Given the description of an element on the screen output the (x, y) to click on. 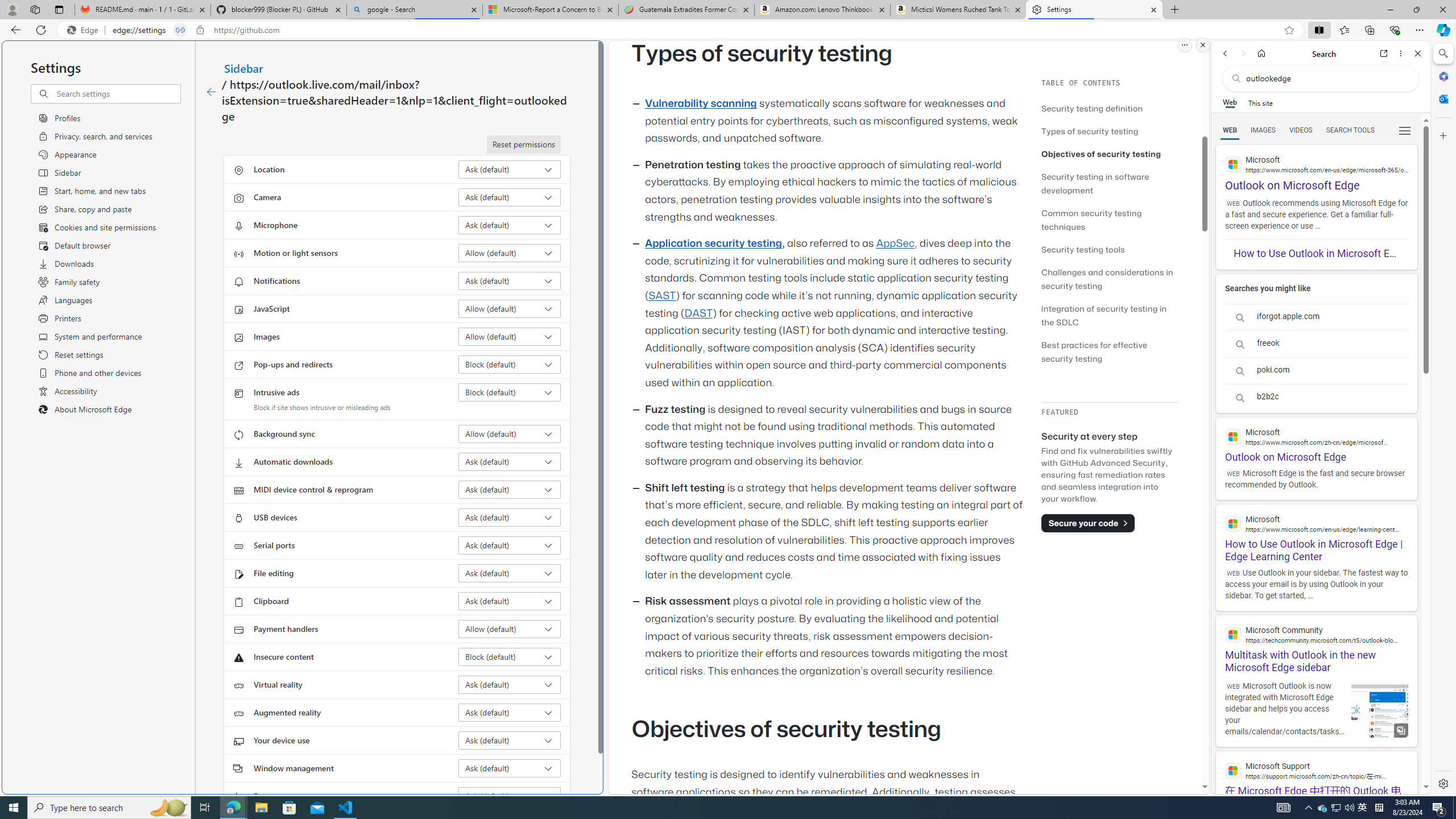
Open link in new tab (1383, 53)
SEARCH TOOLS (1350, 130)
iforgot.apple.com (1315, 316)
IMAGES (1262, 130)
Search Filter, VIDEOS (1300, 129)
Forward (1242, 53)
Go back to Sidebar page. (210, 91)
Payment handlers Allow (default) (509, 628)
More options. (1183, 45)
Integration of security testing in the SDLC (1104, 314)
Outlook on Microsoft Edge (1315, 440)
